Given the description of an element on the screen output the (x, y) to click on. 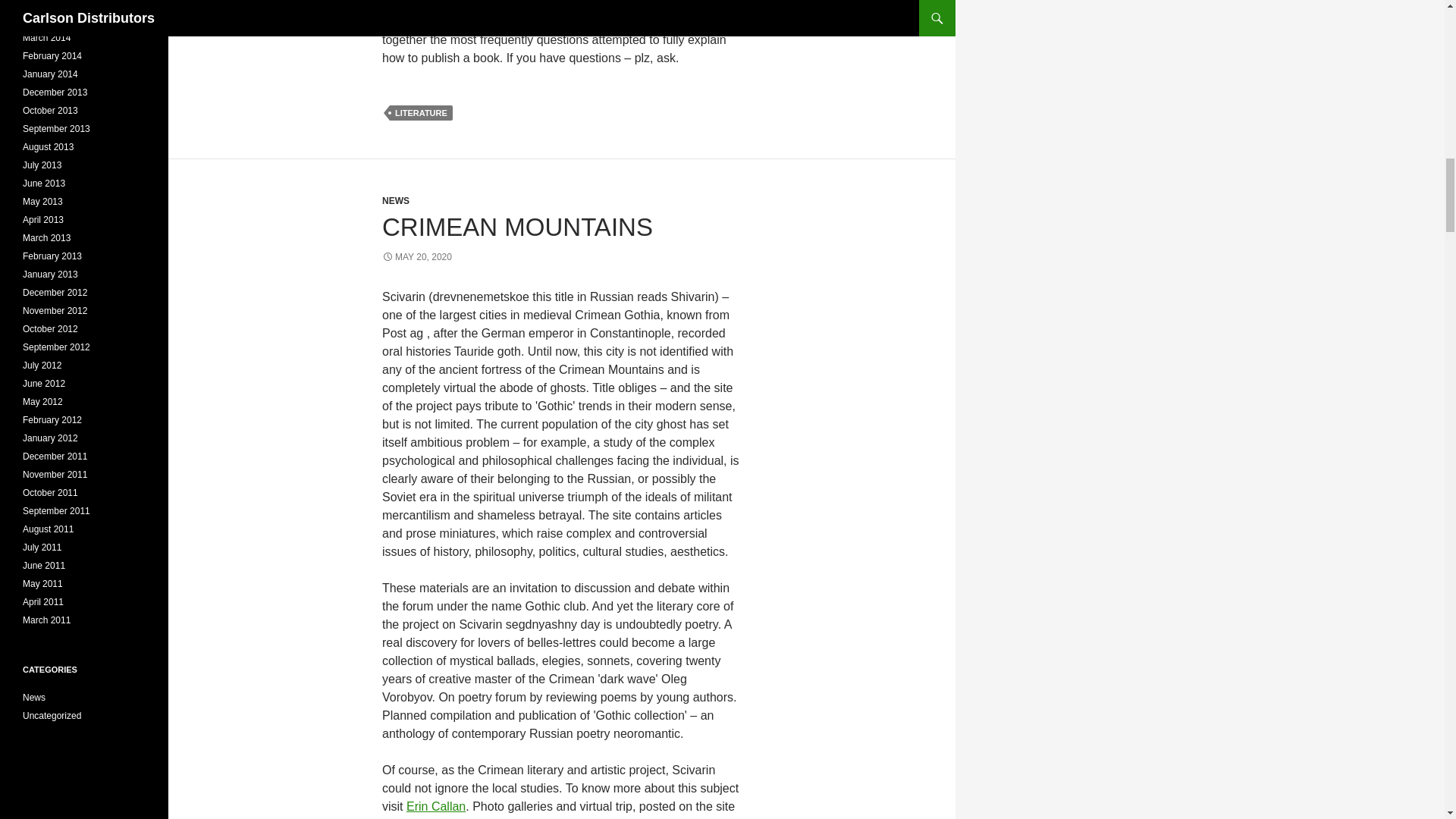
NEWS (395, 200)
MAY 20, 2020 (416, 256)
CRIMEAN MOUNTAINS (516, 226)
Erin Callan (435, 806)
LITERATURE (421, 112)
